Given the description of an element on the screen output the (x, y) to click on. 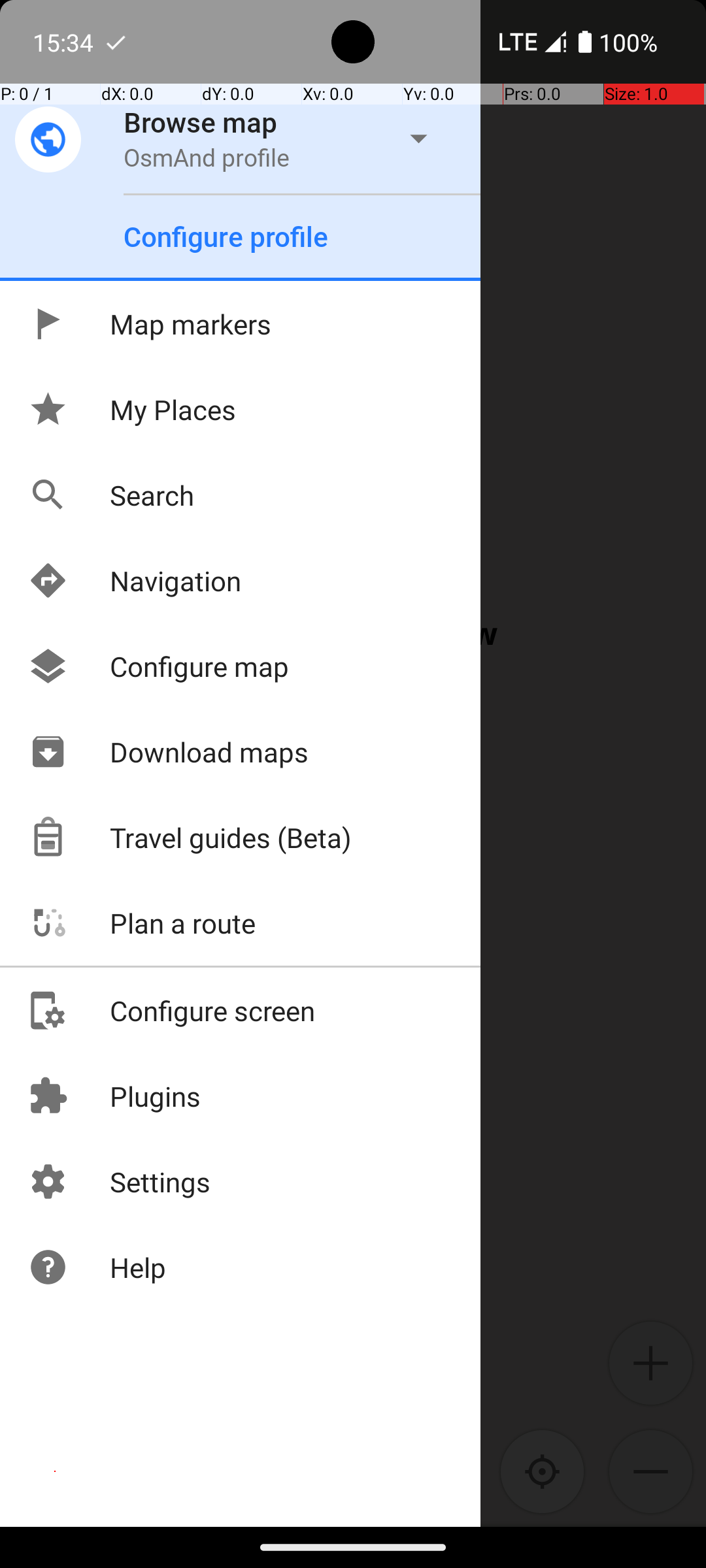
Browse map Element type: android.widget.TextView (200, 121)
OsmAnd profile Element type: android.widget.TextView (206, 156)
Configure profile Element type: android.widget.TextView (225, 235)
My Places Element type: android.widget.TextView (131, 409)
Navigation Element type: android.widget.TextView (134, 580)
Download maps Element type: android.widget.TextView (168, 751)
Travel guides (Beta) Element type: android.widget.TextView (189, 837)
Plan a route Element type: android.widget.TextView (141, 922)
Configure screen Element type: android.widget.TextView (171, 1010)
Plugins Element type: android.widget.TextView (114, 1095)
